Given the description of an element on the screen output the (x, y) to click on. 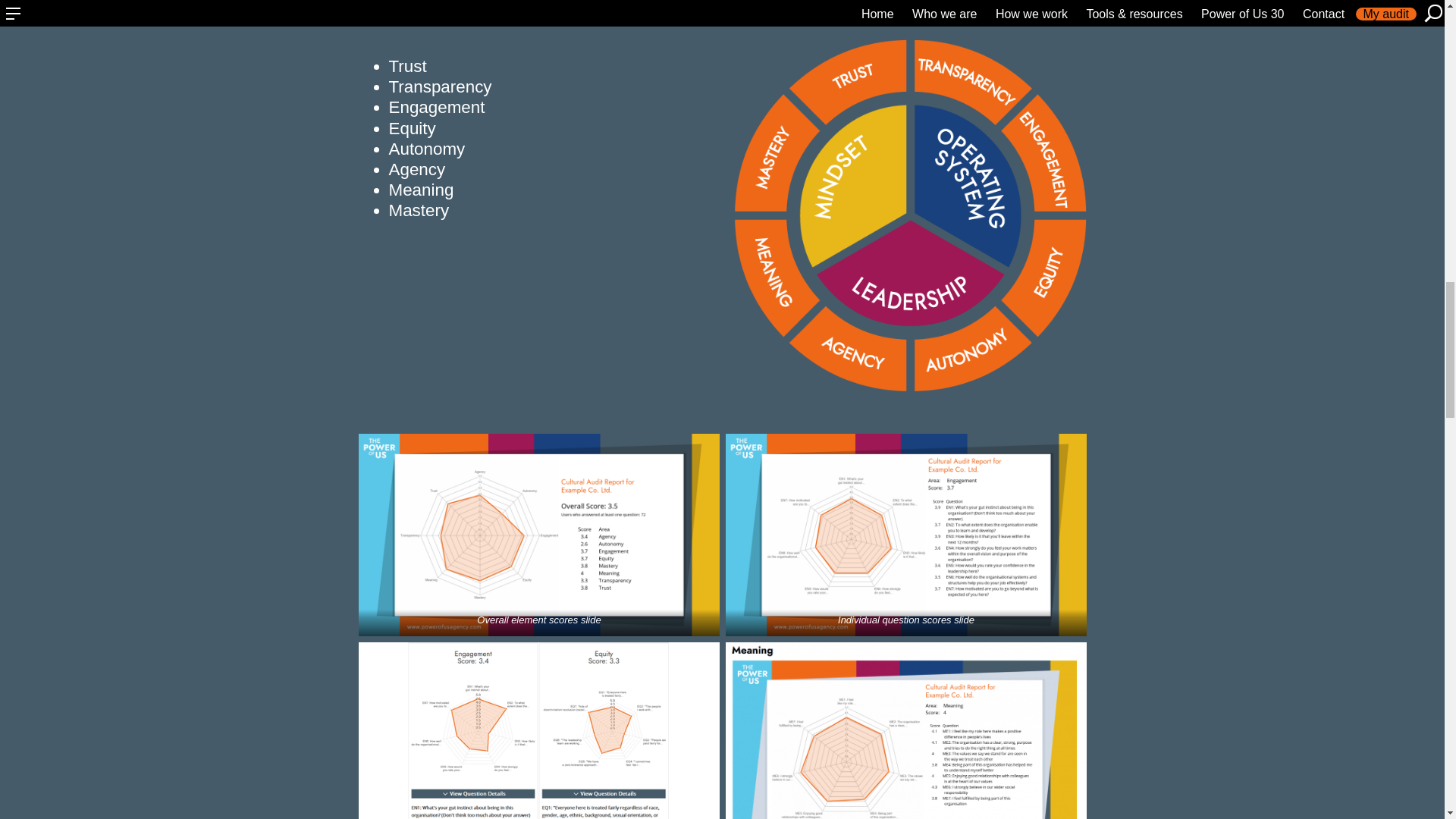
Equity (411, 127)
Engagement (436, 107)
Agency (416, 169)
Autonomy (426, 148)
Meaning (420, 189)
Transparency (440, 86)
Trust (407, 66)
Mastery (418, 210)
